Given the description of an element on the screen output the (x, y) to click on. 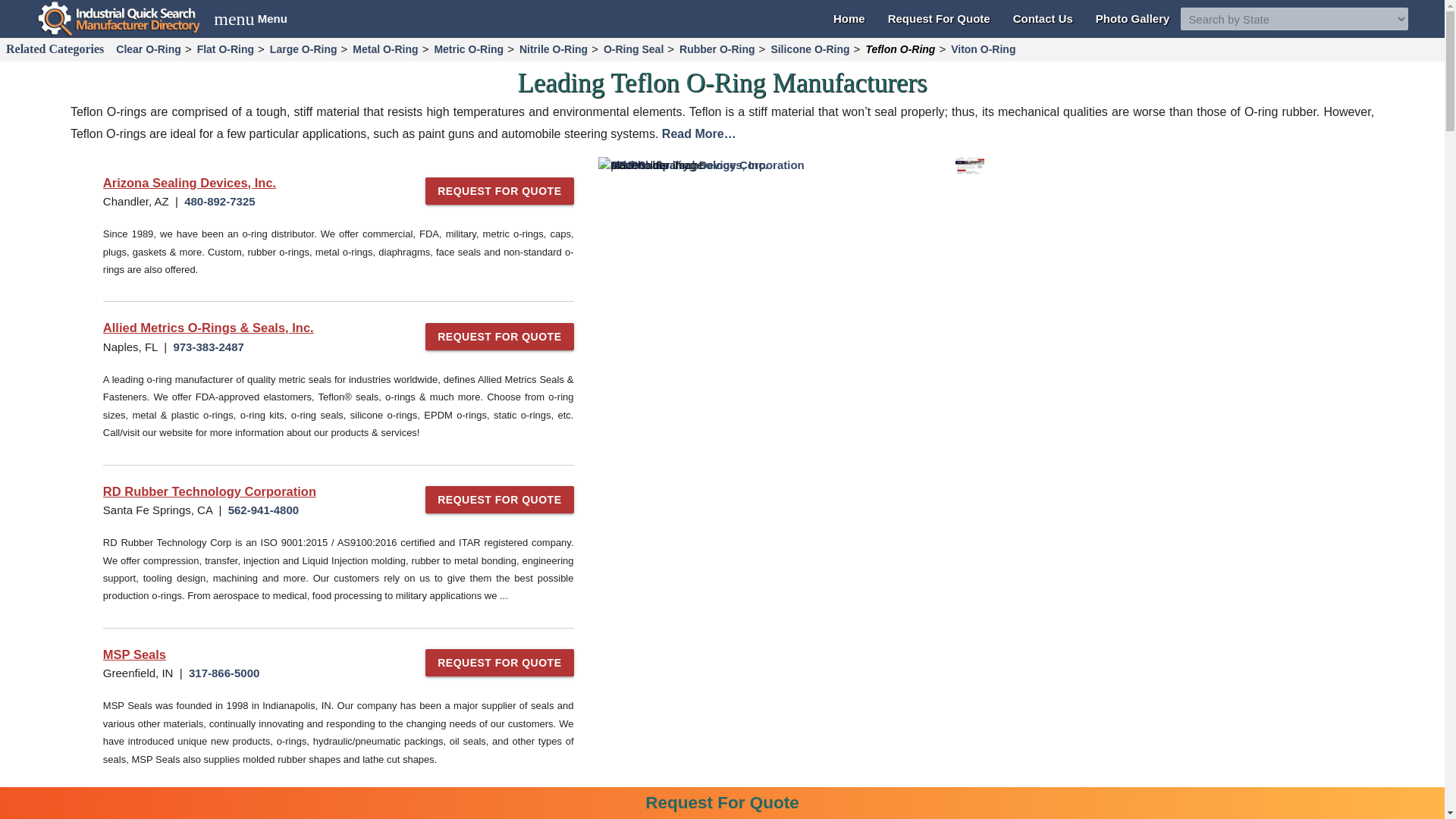
Flat O-Ring (225, 48)
Clear O-Ring (148, 48)
Metric O-Ring (467, 48)
Metal O-Ring (385, 48)
Rubber O-Ring (716, 48)
site preview (969, 165)
Silicone O-Ring (810, 48)
Home (849, 18)
Nitrile O-Ring (553, 48)
O-Ring Seal (632, 48)
Request For Quote (938, 18)
Contact Us (1042, 18)
Teflon O-Ring (900, 48)
Photo Gallery (250, 18)
